Given the description of an element on the screen output the (x, y) to click on. 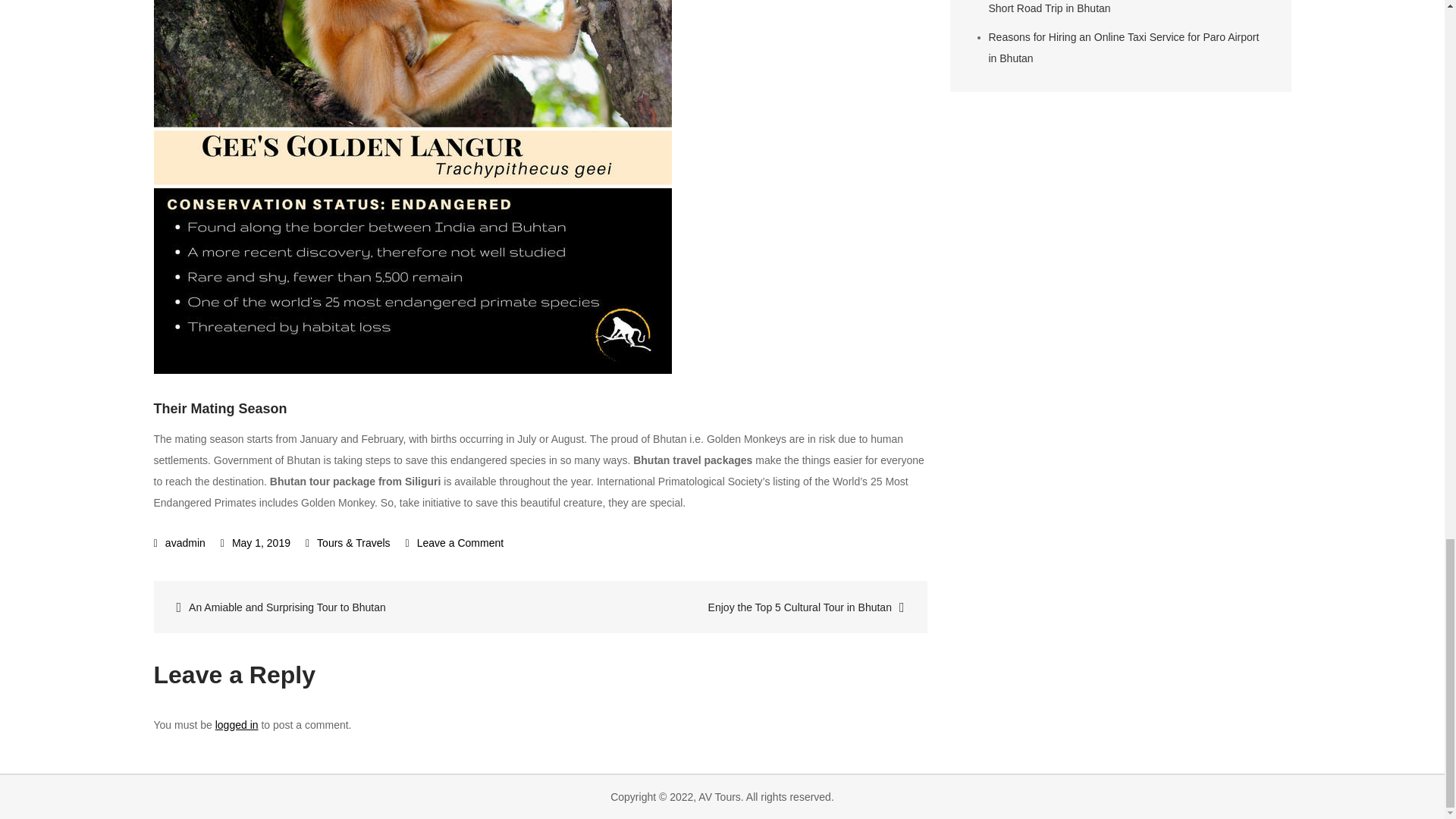
Enjoy the Top 5 Cultural Tour in Bhutan (731, 607)
May 1, 2019 (255, 542)
An Amiable and Surprising Tour to Bhutan (348, 607)
logged in (237, 725)
avadmin (179, 542)
